Given the description of an element on the screen output the (x, y) to click on. 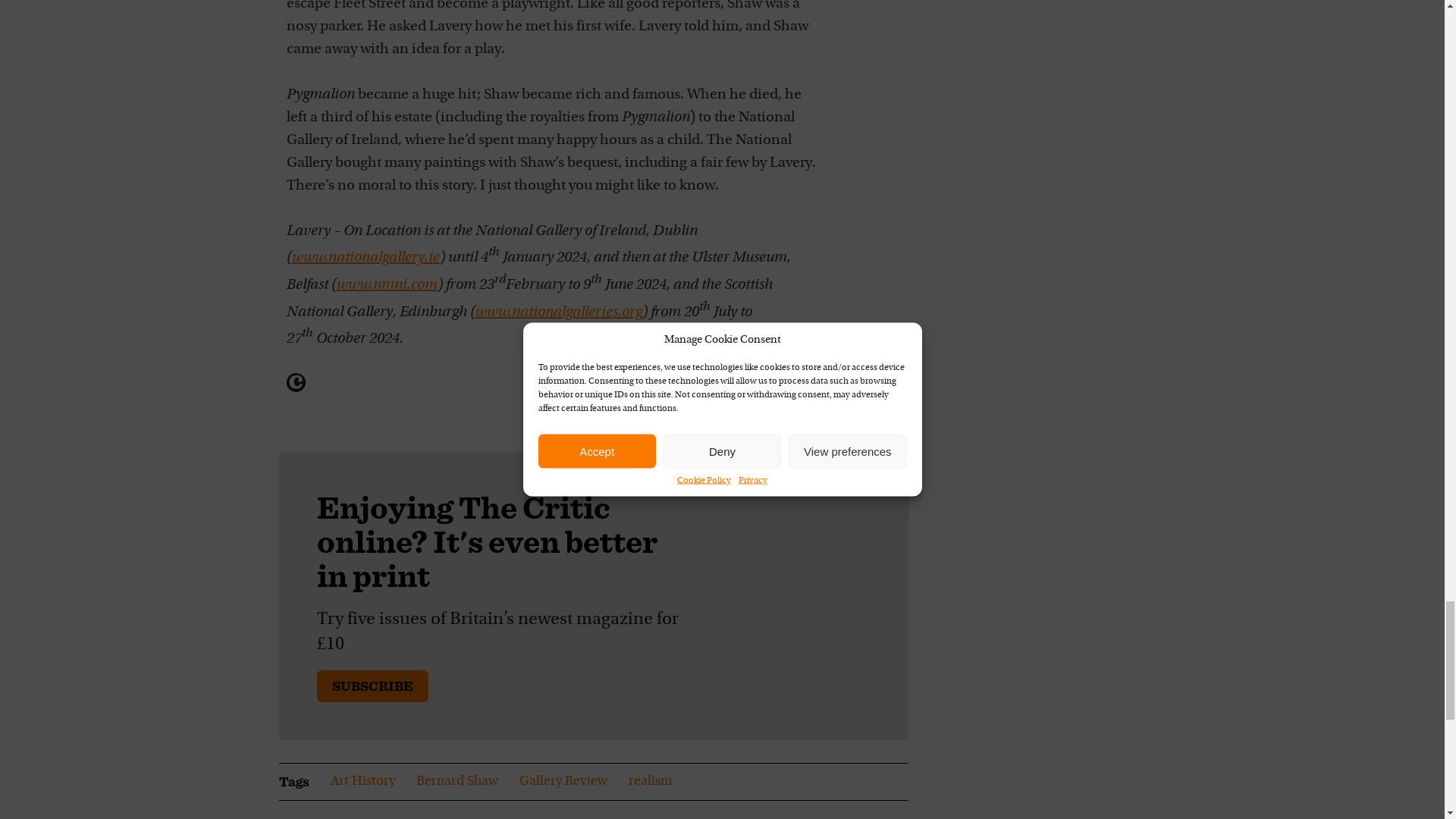
www.nmni.com (387, 284)
www.nationalgallery.ie (365, 257)
www.nationalgalleries.org (558, 312)
